Given the description of an element on the screen output the (x, y) to click on. 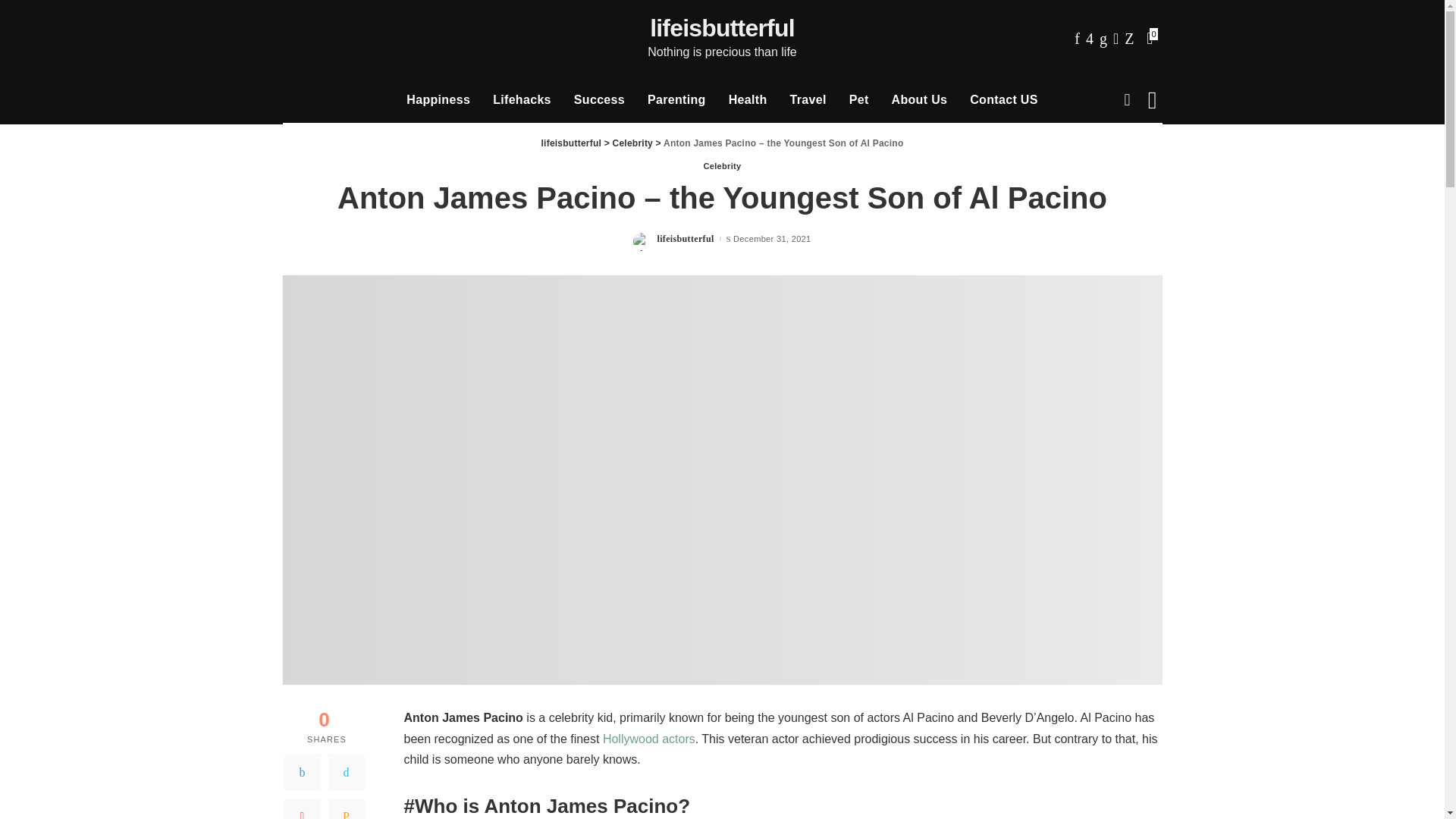
lifeisbutterful (721, 27)
Happiness (437, 99)
lifeisbutterful (721, 27)
